Given the description of an element on the screen output the (x, y) to click on. 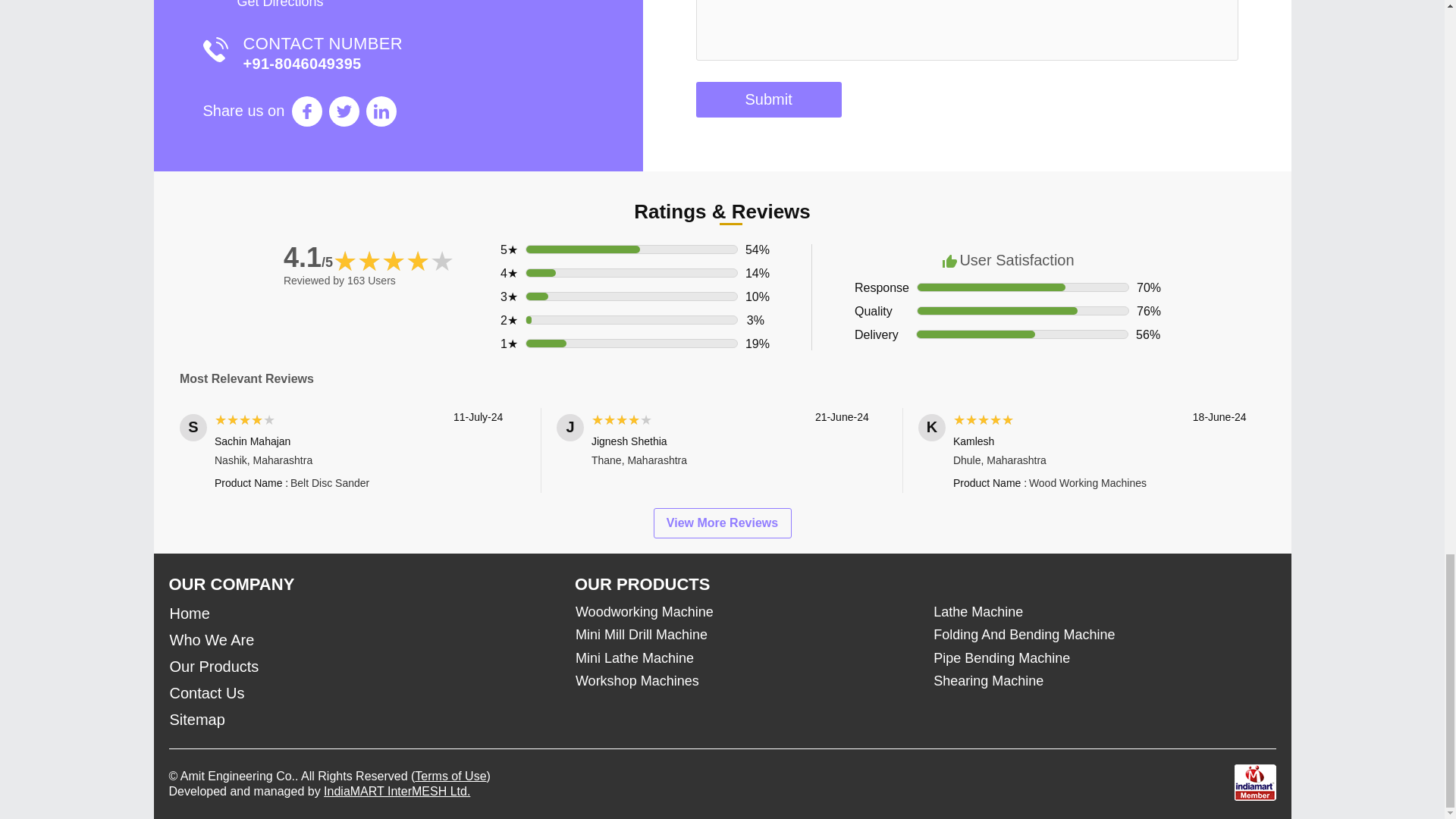
4.1 out of 5 Votes (308, 256)
Submit (768, 99)
